Given the description of an element on the screen output the (x, y) to click on. 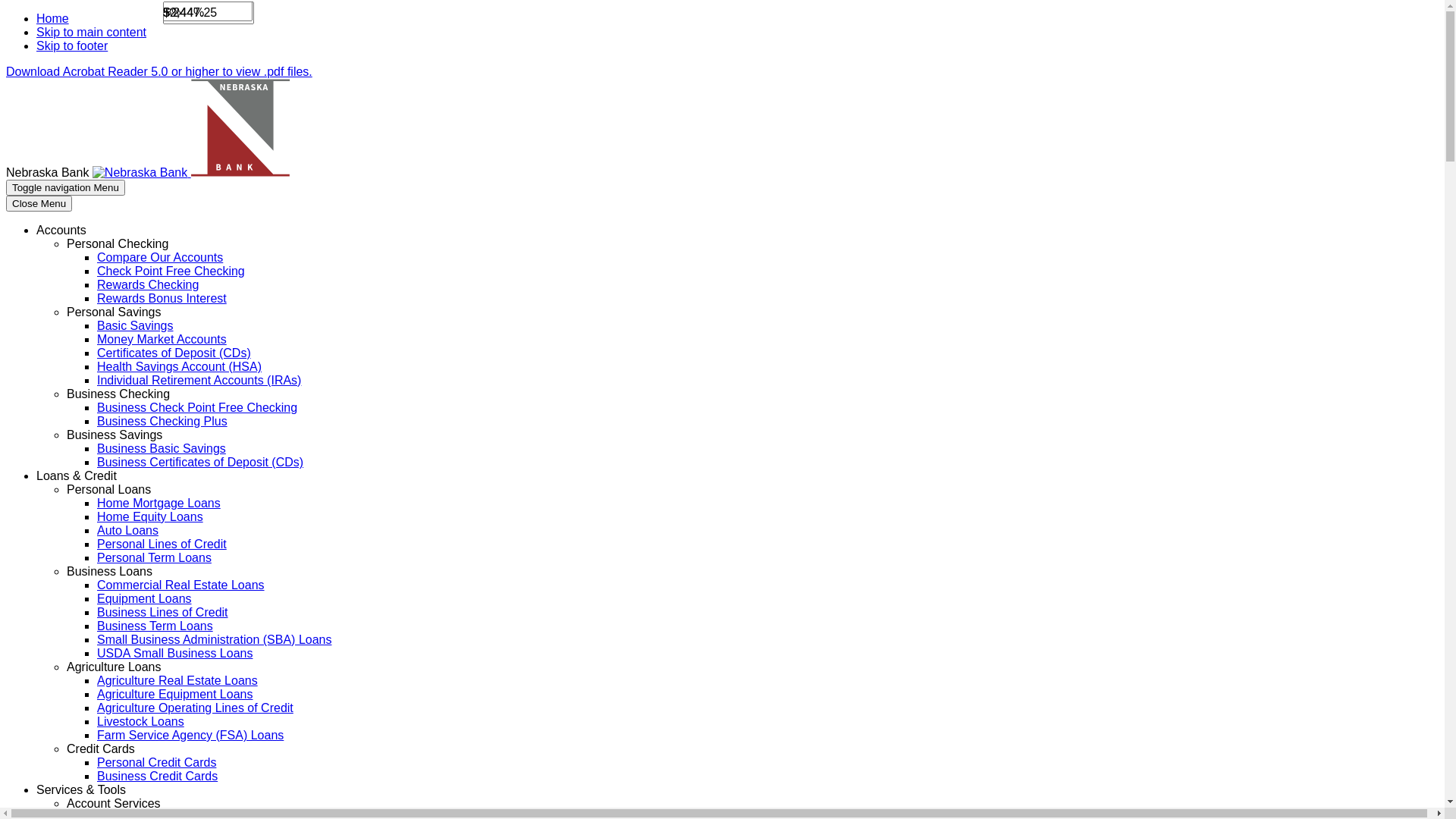
Small Business Administration (SBA) Loans Element type: text (214, 639)
Agriculture Real Estate Loans Element type: text (177, 680)
Health Savings Account (HSA) Element type: text (179, 366)
Business Check Point Free Checking Element type: text (197, 407)
Livestock Loans Element type: text (140, 721)
Personal Credit Cards Element type: text (156, 762)
Home Element type: text (52, 18)
Equipment Loans Element type: text (144, 598)
Individual Retirement Accounts (IRAs) Element type: text (199, 379)
Rewards Bonus Interest Element type: text (161, 297)
Auto Loans Element type: text (127, 530)
Business Basic Savings Element type: text (161, 448)
Compare Our Accounts Element type: text (159, 257)
Farm Service Agency (FSA) Loans Element type: text (190, 734)
Home Equity Loans Element type: text (150, 516)
Skip to main content Element type: text (91, 31)
Home Mortgage Loans Element type: text (158, 502)
Rewards Checking Element type: text (147, 284)
Commercial Real Estate Loans Element type: text (180, 584)
USDA Small Business Loans Element type: text (174, 652)
Agriculture Equipment Loans Element type: text (174, 693)
Business Lines of Credit Element type: text (162, 611)
Certificates of Deposit (CDs) Element type: text (174, 352)
Check Point Free Checking Element type: text (170, 270)
Close Menu Element type: text (39, 203)
Personal Lines of Credit Element type: text (161, 543)
Personal Term Loans Element type: text (154, 557)
Business Checking Plus Element type: text (162, 420)
Basic Savings Element type: text (135, 325)
Business Term Loans Element type: text (155, 625)
Nebraska Bank, Dodge, NE Element type: hover (191, 172)
Business Certificates of Deposit (CDs) Element type: text (200, 461)
Business Credit Cards Element type: text (157, 775)
Skip to footer Element type: text (71, 45)
Agriculture Operating Lines of Credit Element type: text (195, 707)
Toggle navigation Menu Element type: text (65, 187)
Money Market Accounts Element type: text (161, 338)
Download Acrobat Reader 5.0 or higher to view .pdf files. Element type: text (159, 71)
